Given the description of an element on the screen output the (x, y) to click on. 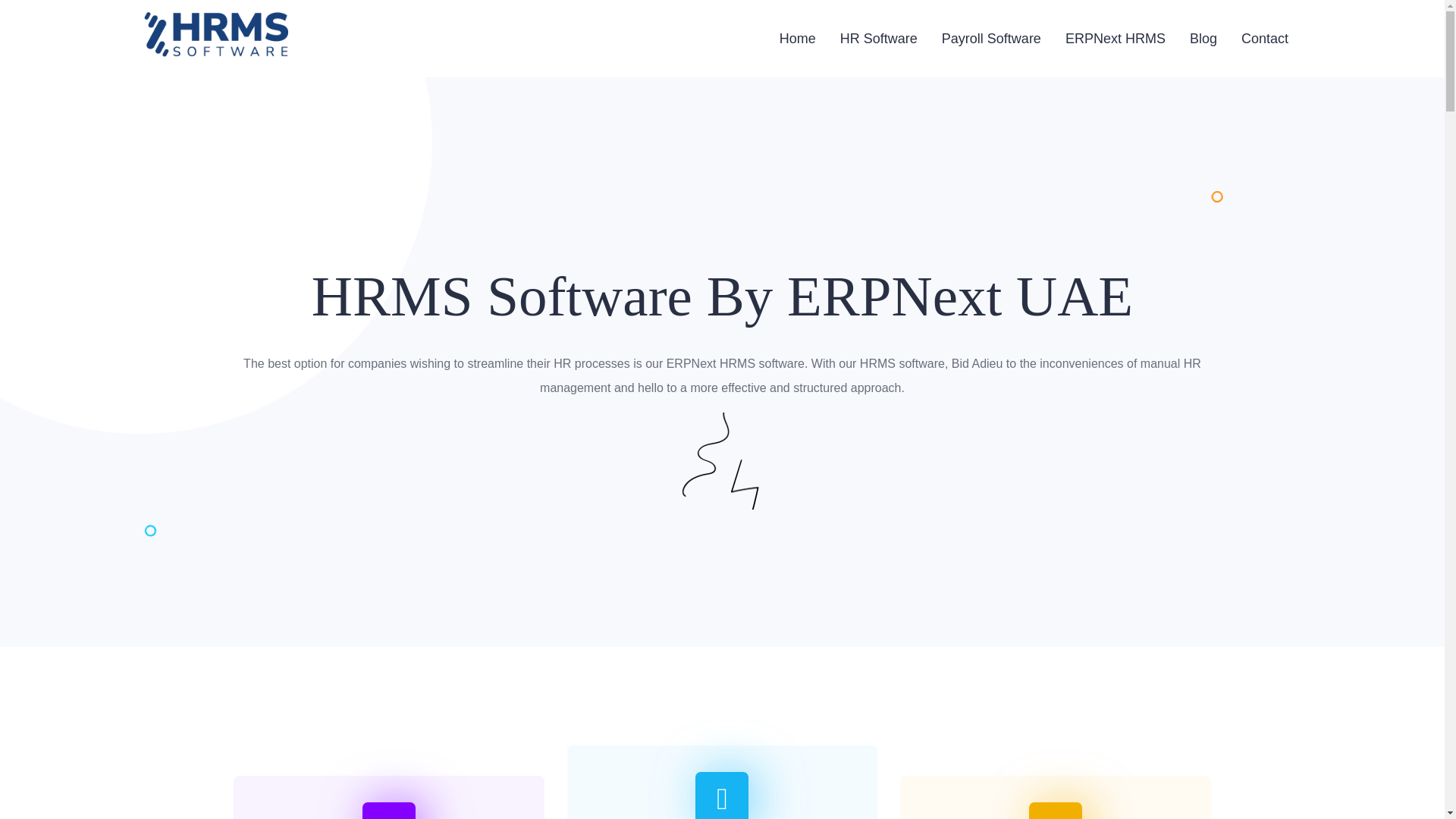
HR Software (878, 38)
Payroll Software (991, 38)
ERPNext HRMS (1115, 38)
Logo (216, 34)
Contact (1264, 38)
Home (796, 38)
Blog (1203, 38)
